Given the description of an element on the screen output the (x, y) to click on. 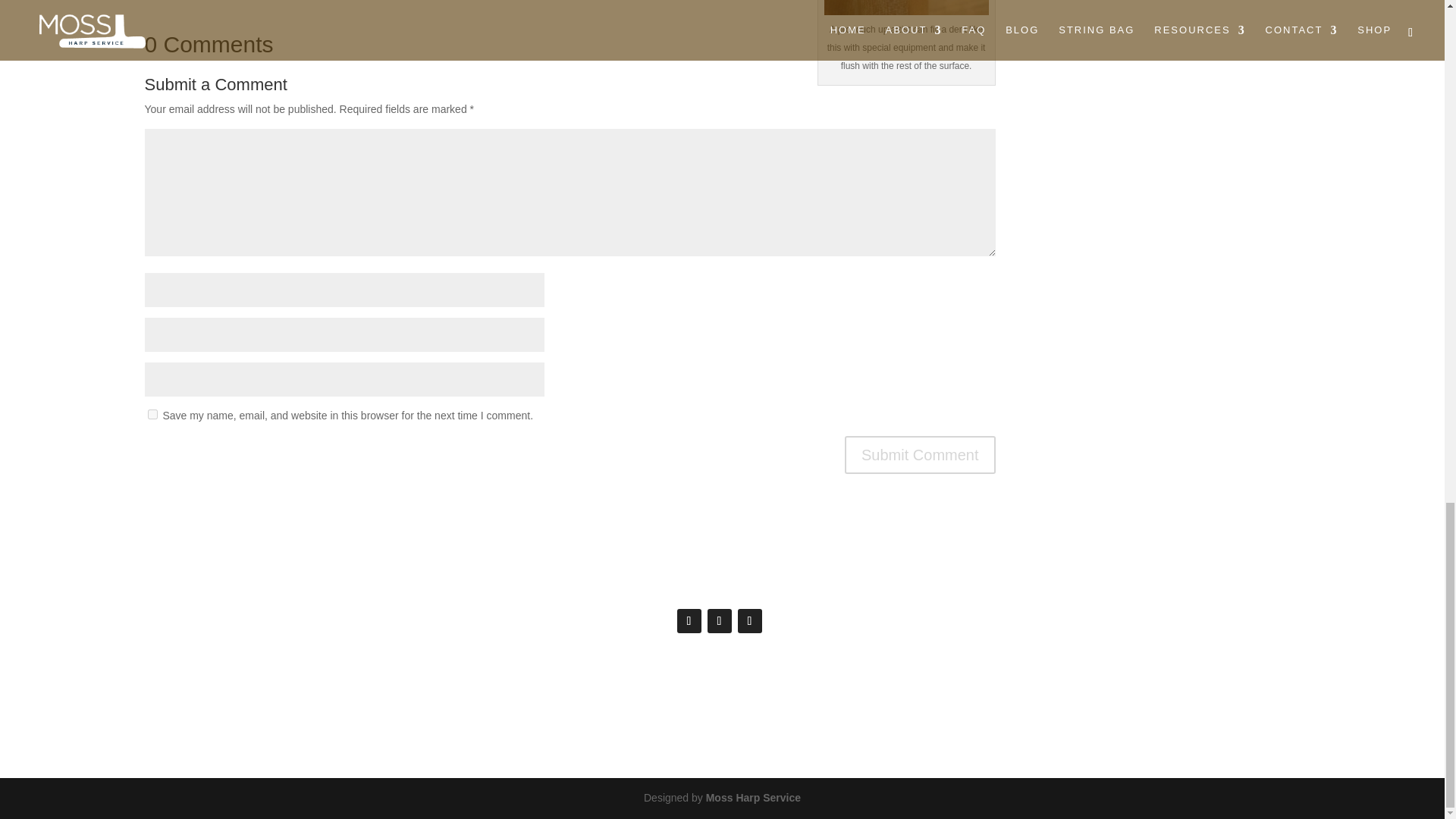
Follow on Twitter (718, 621)
Follow on Facebook (688, 621)
yes (152, 414)
Follow on Instagram (748, 621)
Submit Comment (919, 454)
